Given the description of an element on the screen output the (x, y) to click on. 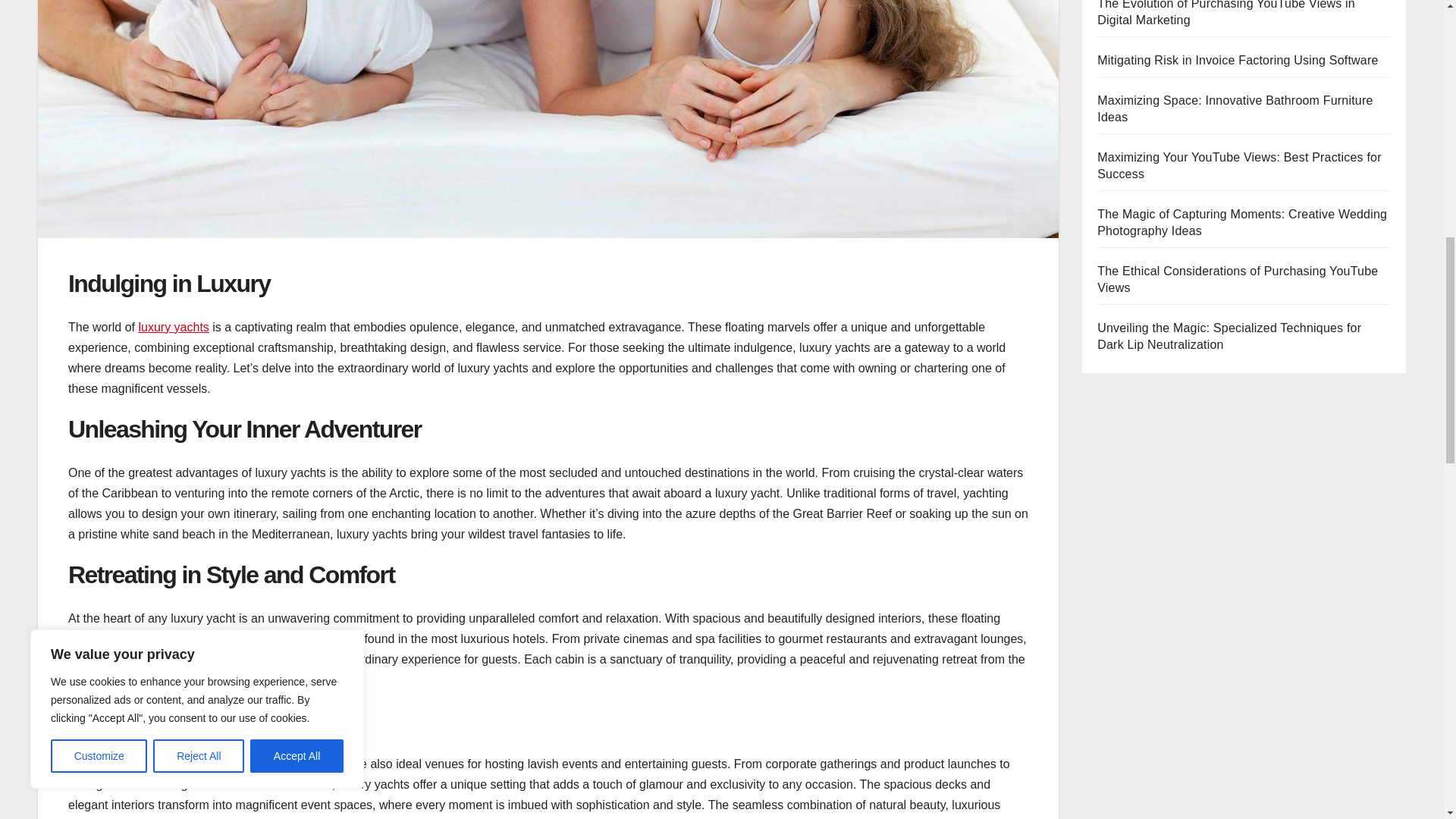
luxury yachts (173, 327)
